Given the description of an element on the screen output the (x, y) to click on. 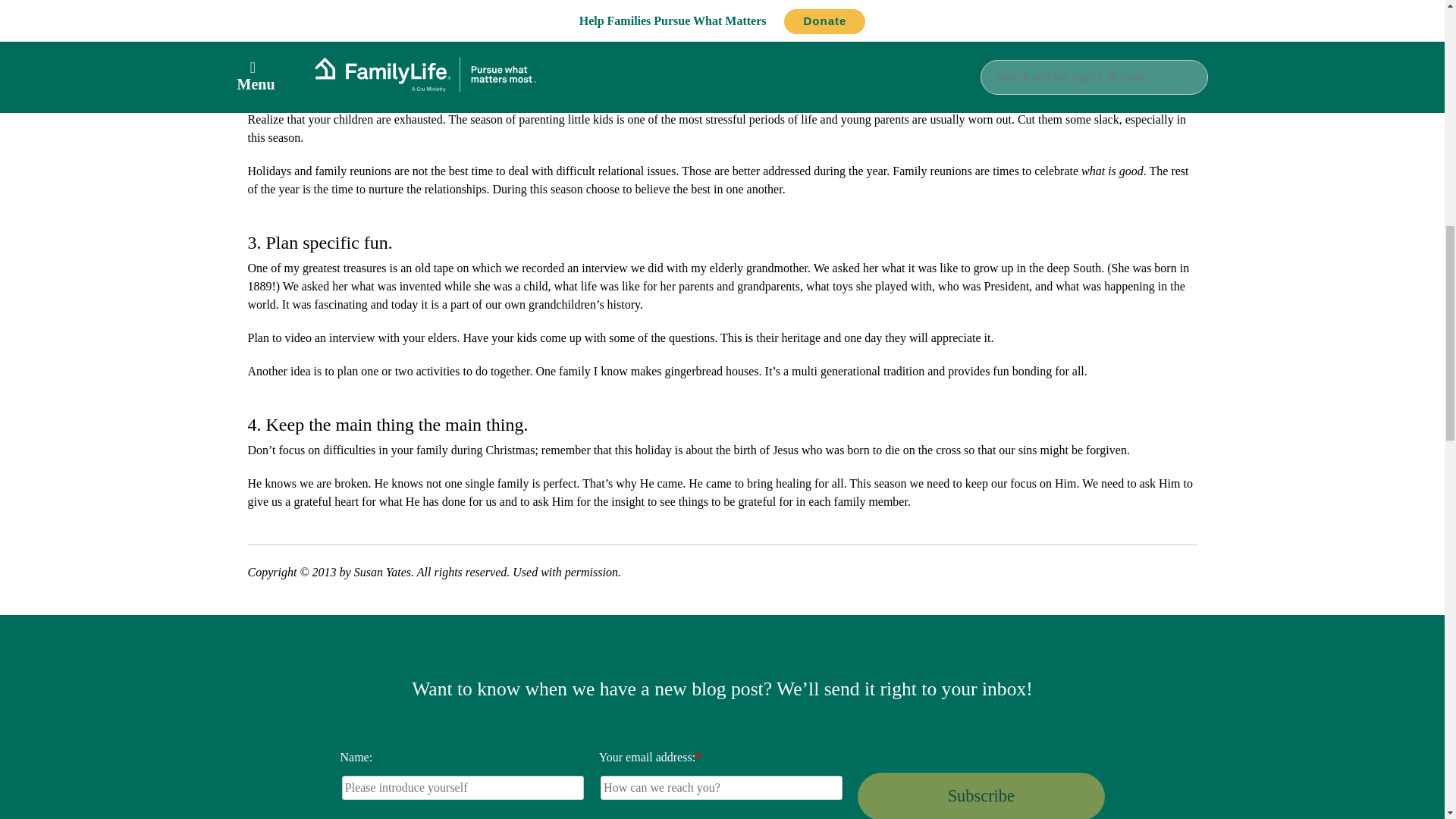
click to join (980, 796)
Please introduce yourself (462, 787)
Subscribe (980, 796)
How can we reach you? (721, 787)
